Given the description of an element on the screen output the (x, y) to click on. 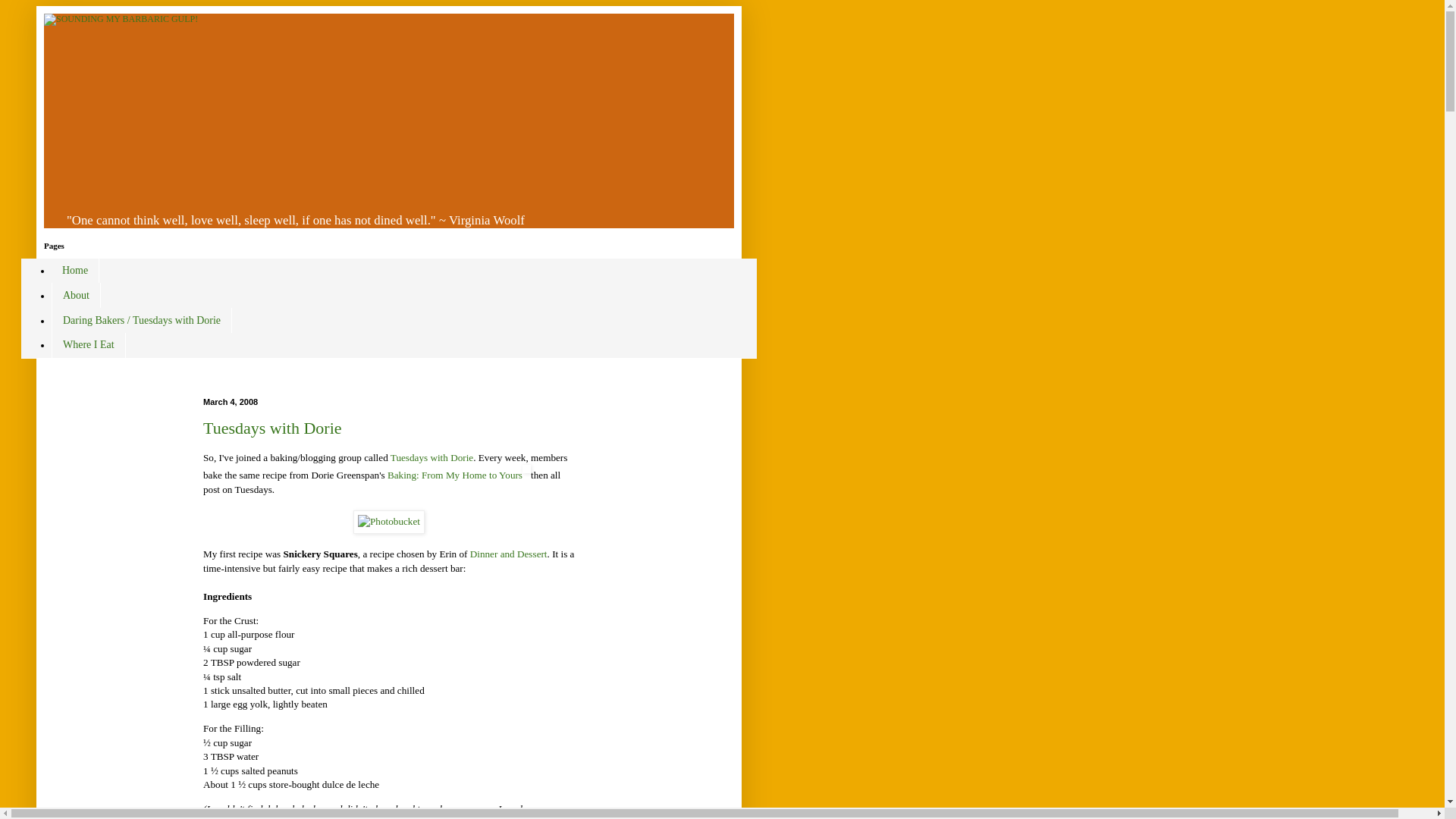
Tuesdays with Dorie (431, 457)
Tuesdays with Dorie (272, 427)
Home (74, 270)
Where I Eat (87, 344)
About (75, 294)
Dinner and Dessert (508, 553)
Baking: From My Home to Yours (454, 474)
